Given the description of an element on the screen output the (x, y) to click on. 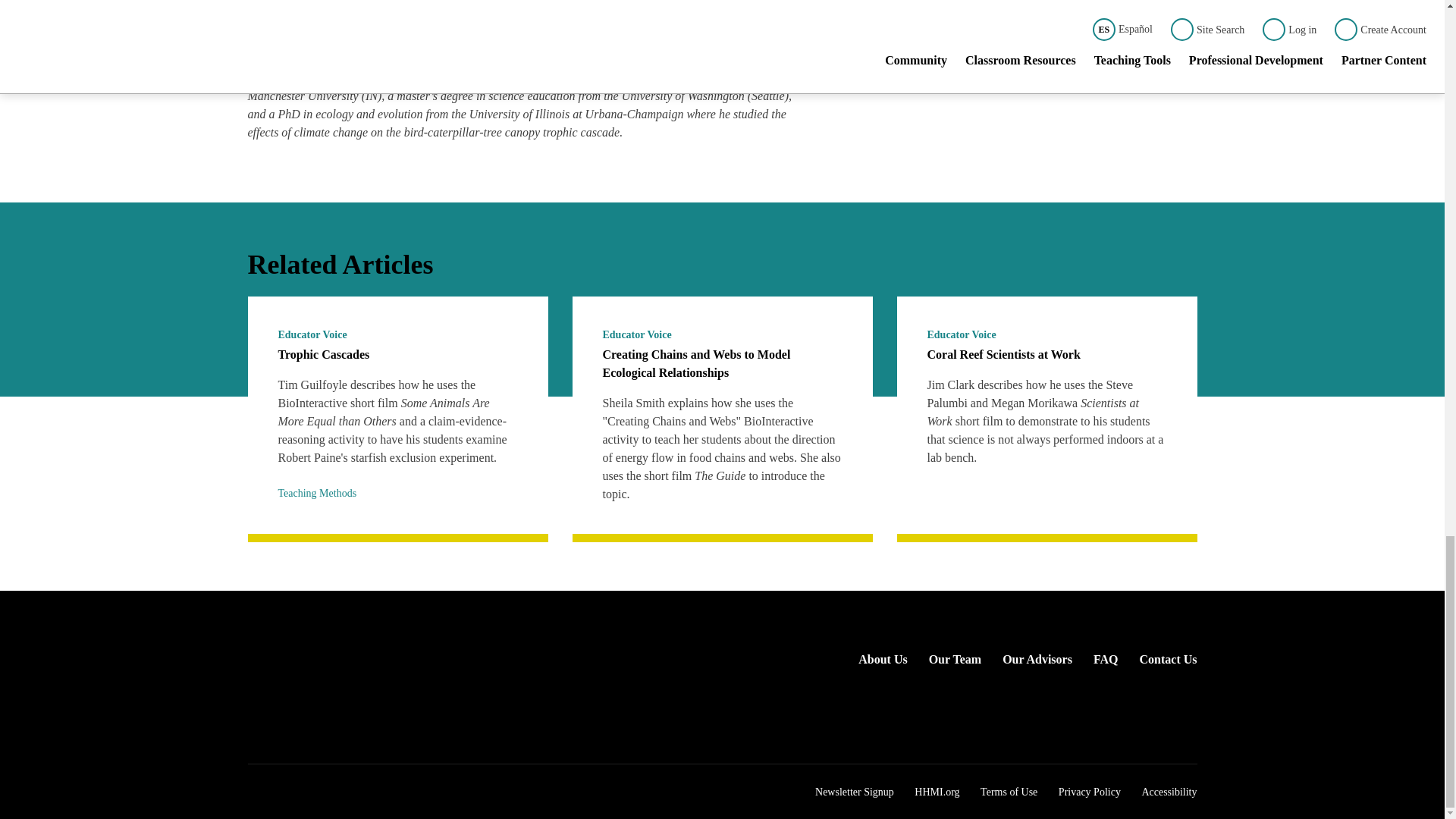
Home (376, 649)
Newsletter Signup (854, 791)
Privacy Policy (1089, 791)
Our Advisors (1037, 658)
Contact Us (1167, 658)
Our Team (954, 658)
Accessibility (1168, 791)
